Given the description of an element on the screen output the (x, y) to click on. 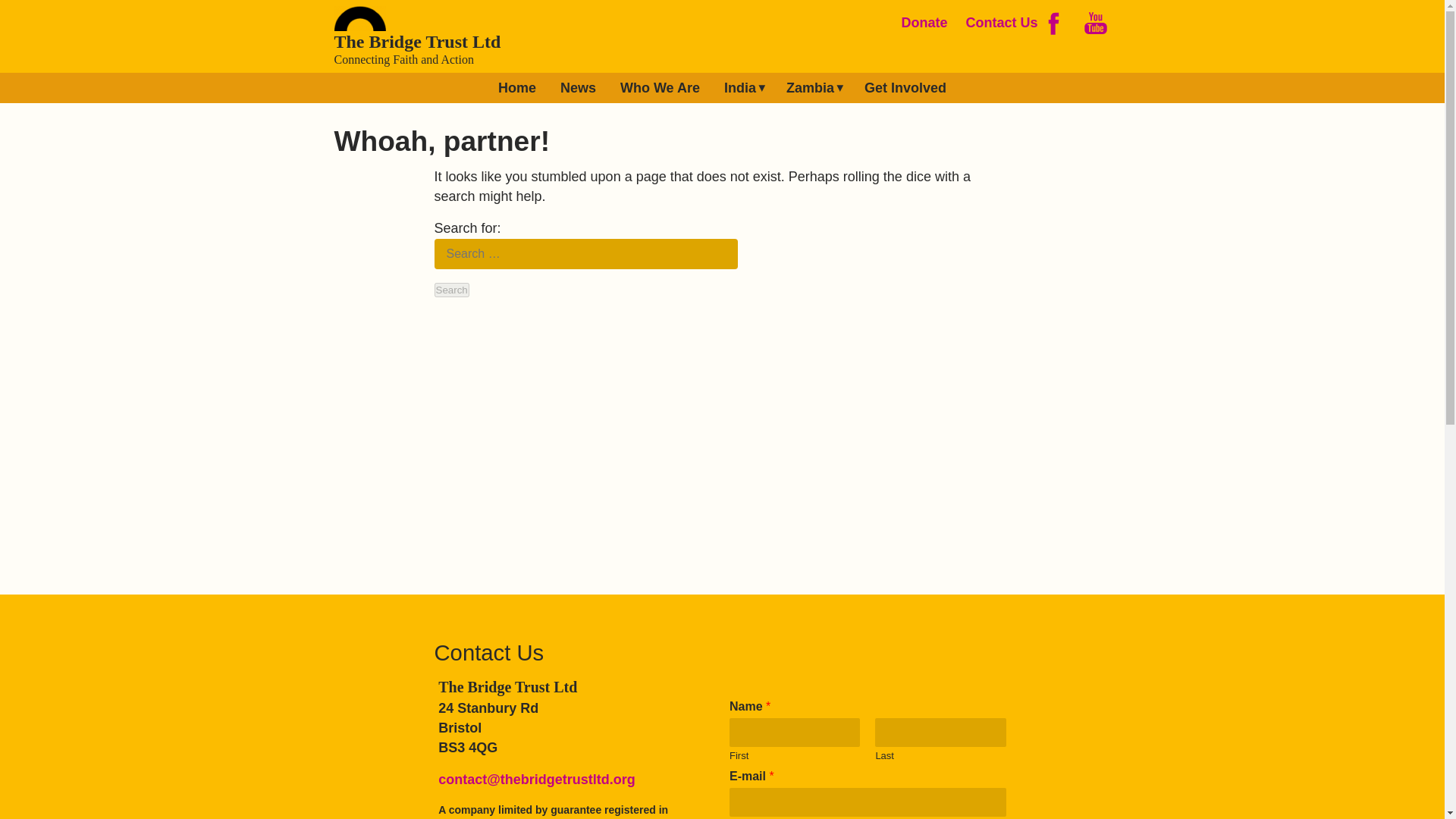
Follow on YouTube (1094, 22)
Home (517, 87)
Search (450, 289)
The Bridge Trust Ltd (416, 41)
Donate (921, 23)
Zambia (809, 87)
Who We Are (659, 87)
Search (450, 289)
India (739, 87)
News (578, 87)
